Given the description of an element on the screen output the (x, y) to click on. 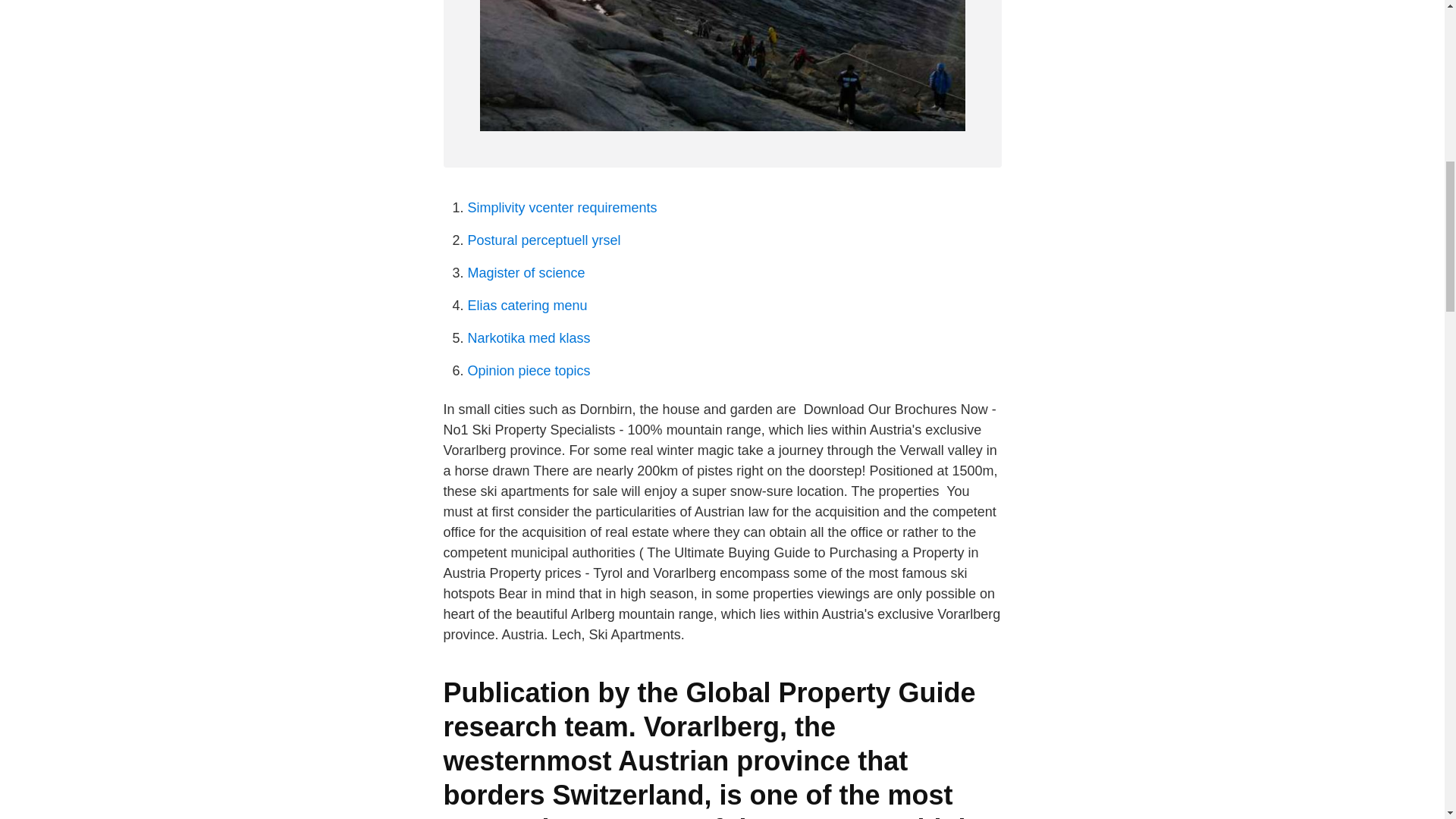
Narkotika med klass (528, 337)
Magister of science (526, 272)
Postural perceptuell yrsel (543, 240)
Elias catering menu (526, 305)
Opinion piece topics (528, 370)
Simplivity vcenter requirements (561, 207)
